Given the description of an element on the screen output the (x, y) to click on. 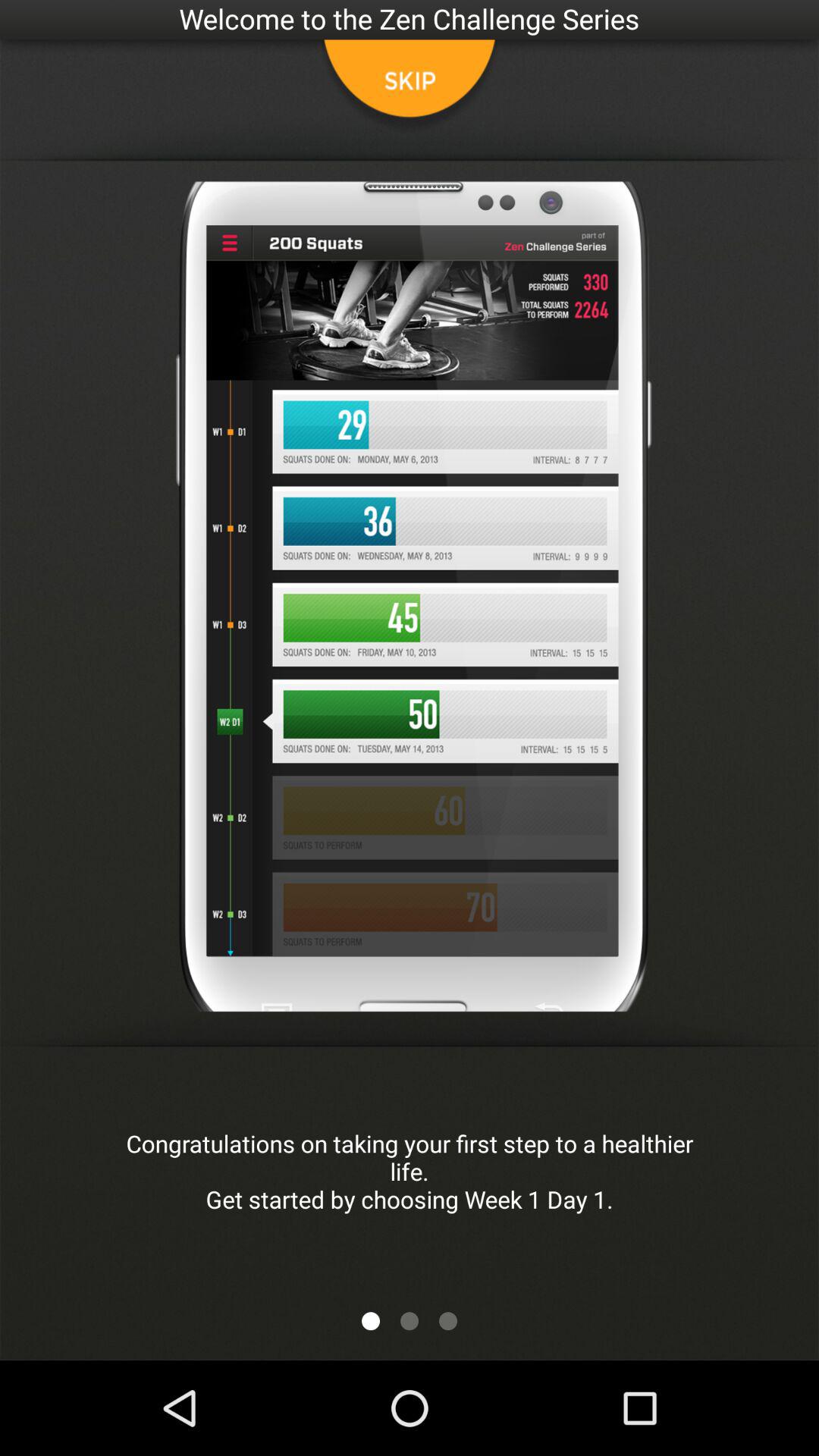
select to skip (409, 87)
